Given the description of an element on the screen output the (x, y) to click on. 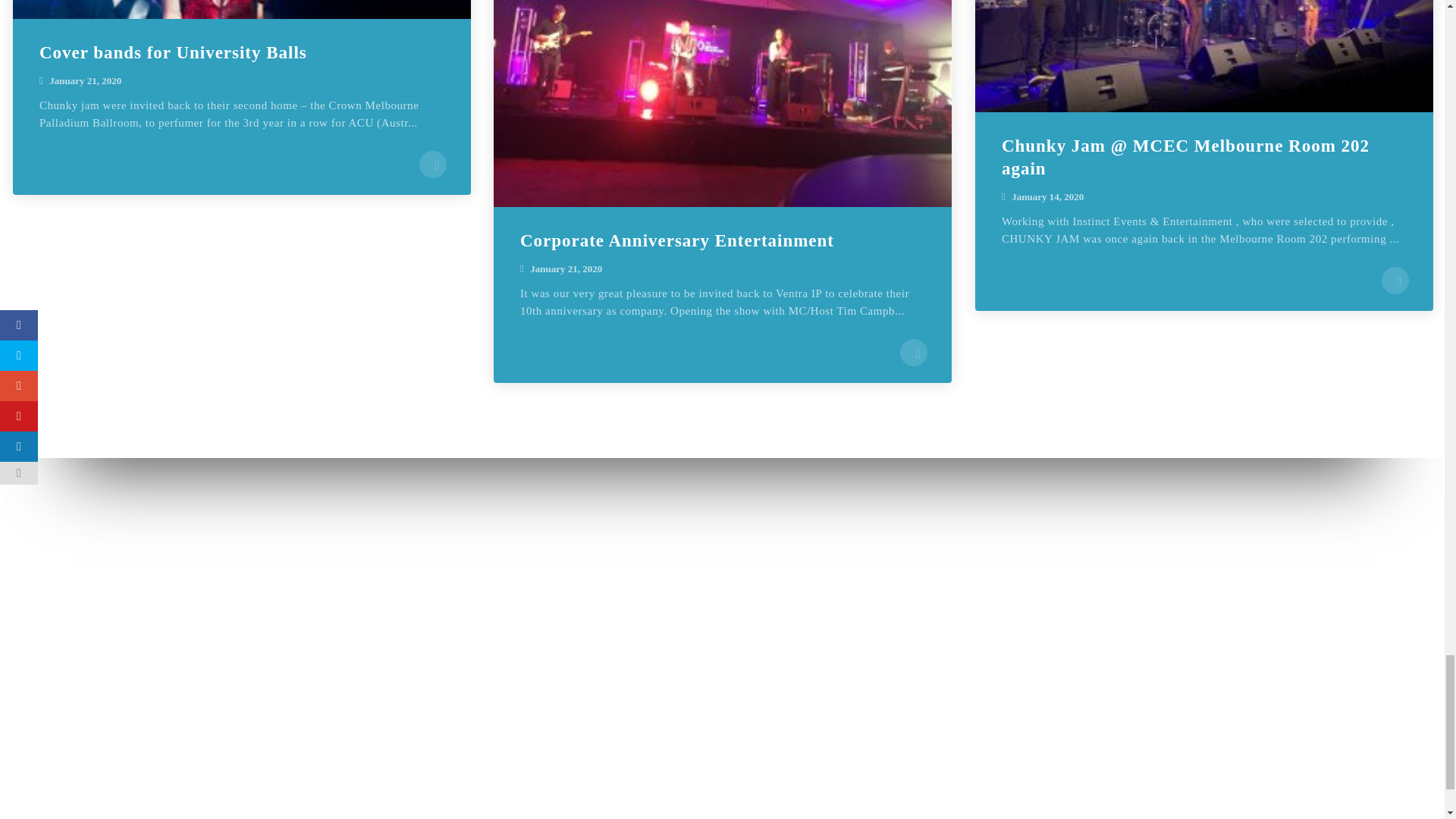
Like (1395, 280)
Like (913, 352)
Like (432, 164)
